Given the description of an element on the screen output the (x, y) to click on. 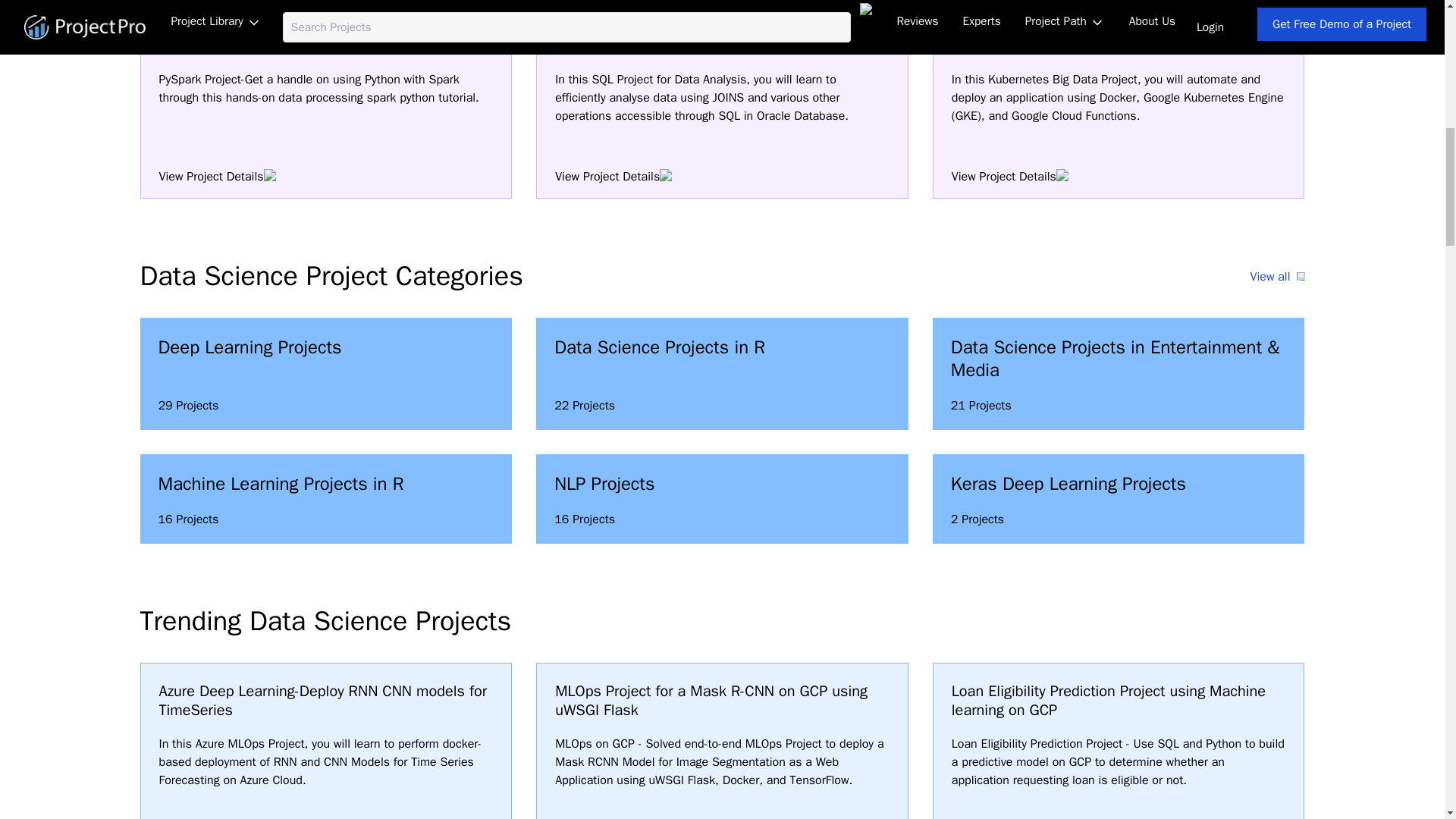
View all (325, 373)
view all Data Science Projects (1276, 275)
